Given the description of an element on the screen output the (x, y) to click on. 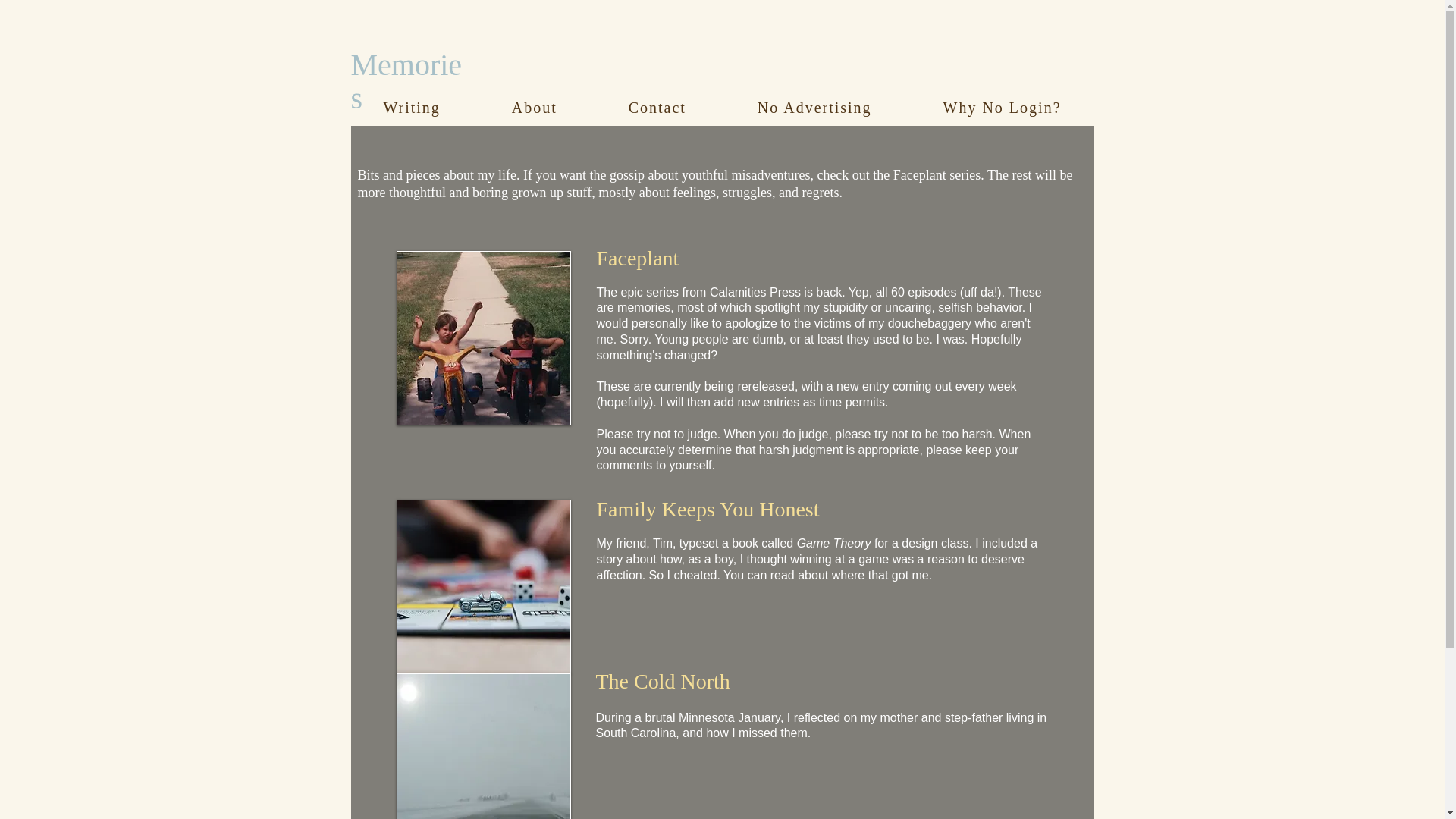
No Advertising (814, 107)
Writing (410, 107)
About (534, 107)
Contact (657, 107)
Why No Login? (1002, 107)
